Given the description of an element on the screen output the (x, y) to click on. 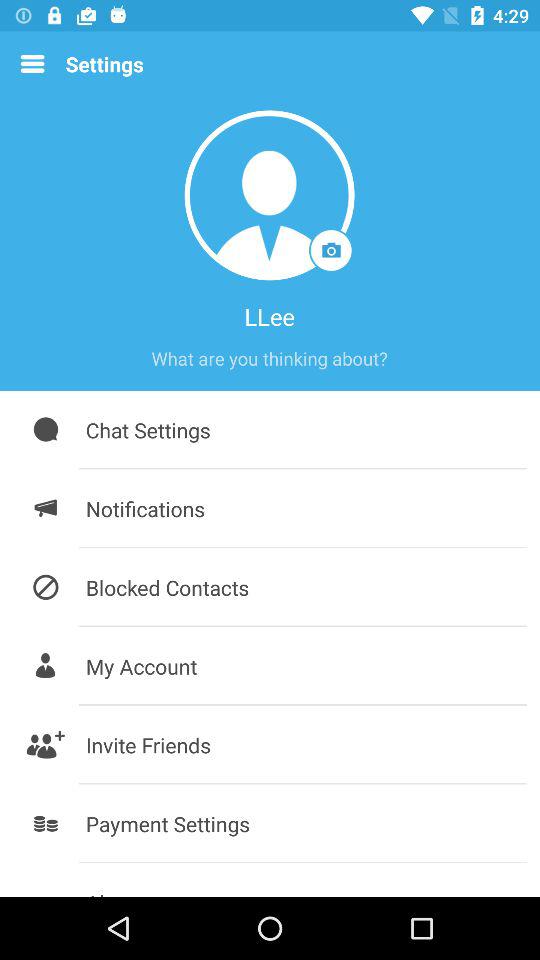
set user thought (269, 358)
